Given the description of an element on the screen output the (x, y) to click on. 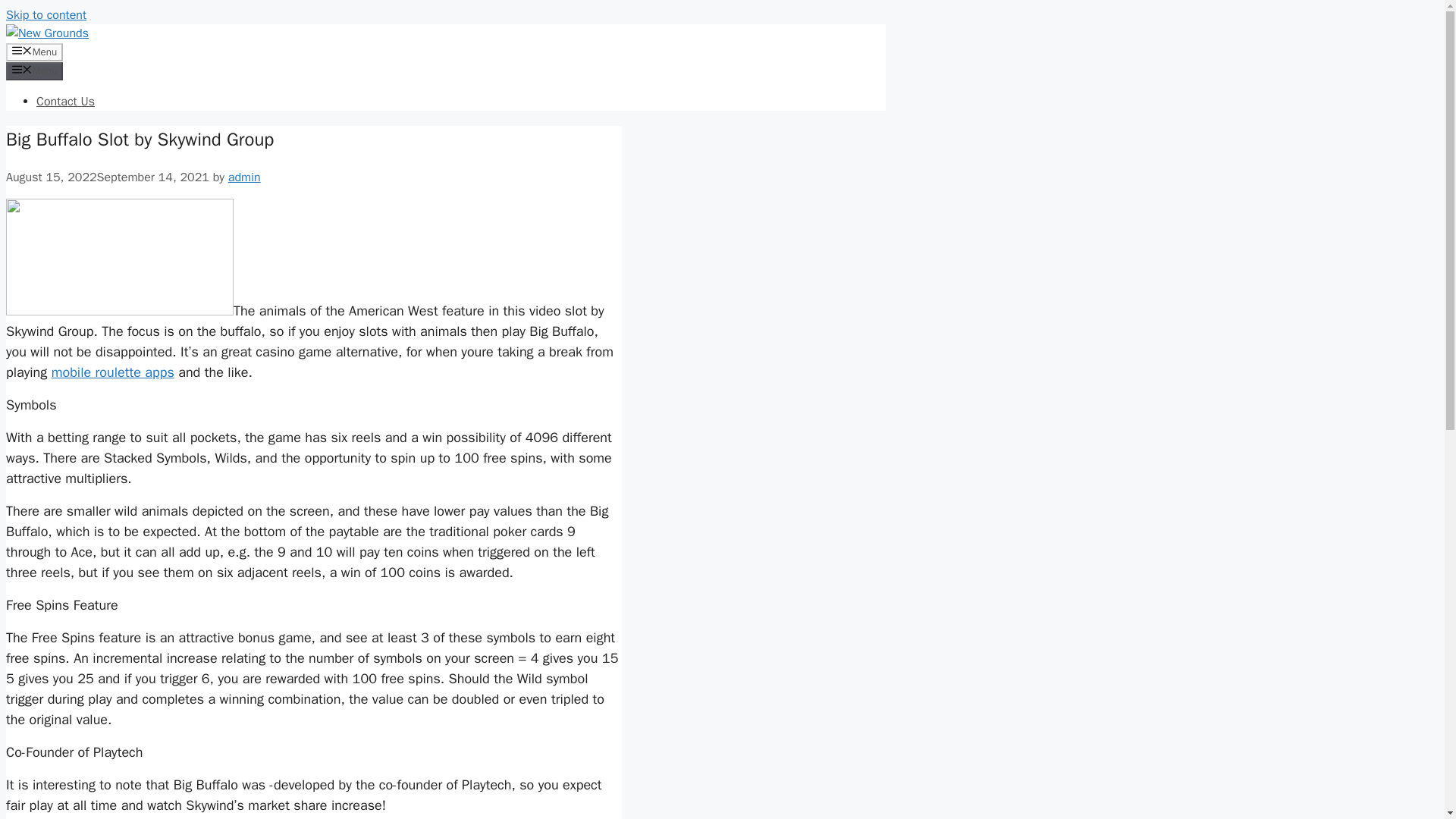
Menu (33, 71)
Menu (33, 52)
Skip to content (45, 14)
View all posts by admin (244, 177)
Skip to content (45, 14)
mobile roulette apps (112, 371)
admin (244, 177)
Contact Us (65, 101)
